Given the description of an element on the screen output the (x, y) to click on. 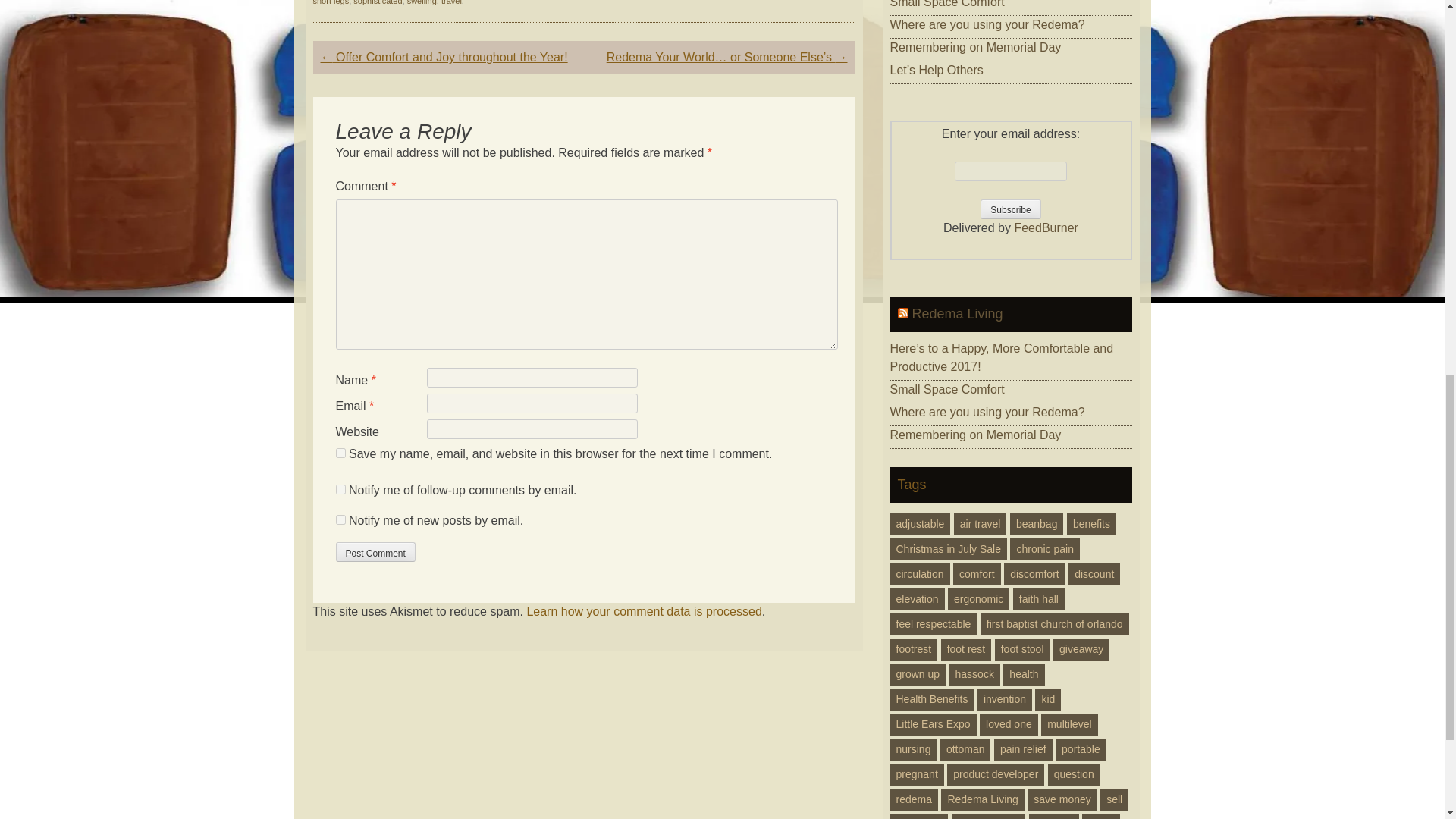
Subscribe (1010, 209)
subscribe (339, 519)
yes (339, 452)
Post Comment (374, 551)
subscribe (339, 489)
